Given the description of an element on the screen output the (x, y) to click on. 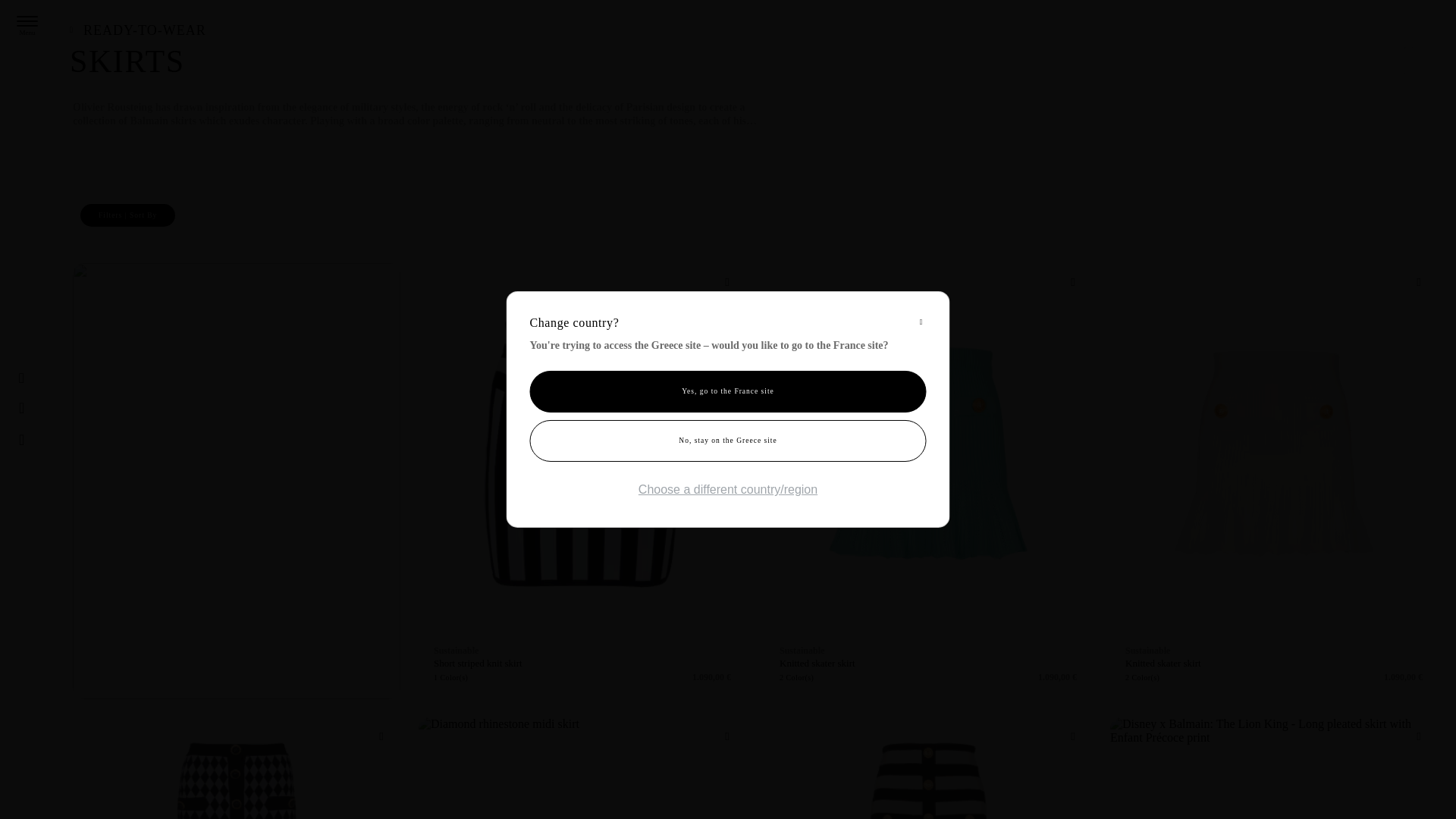
Diamond rhinestone midi skirt, black (582, 768)
Shopping bag: 0 Items (56, 440)
Diamond jacquard midi skirt, black (236, 768)
Two-tone buttoned knit midi skirt, black (928, 768)
Menu (26, 20)
Search (26, 408)
